Given the description of an element on the screen output the (x, y) to click on. 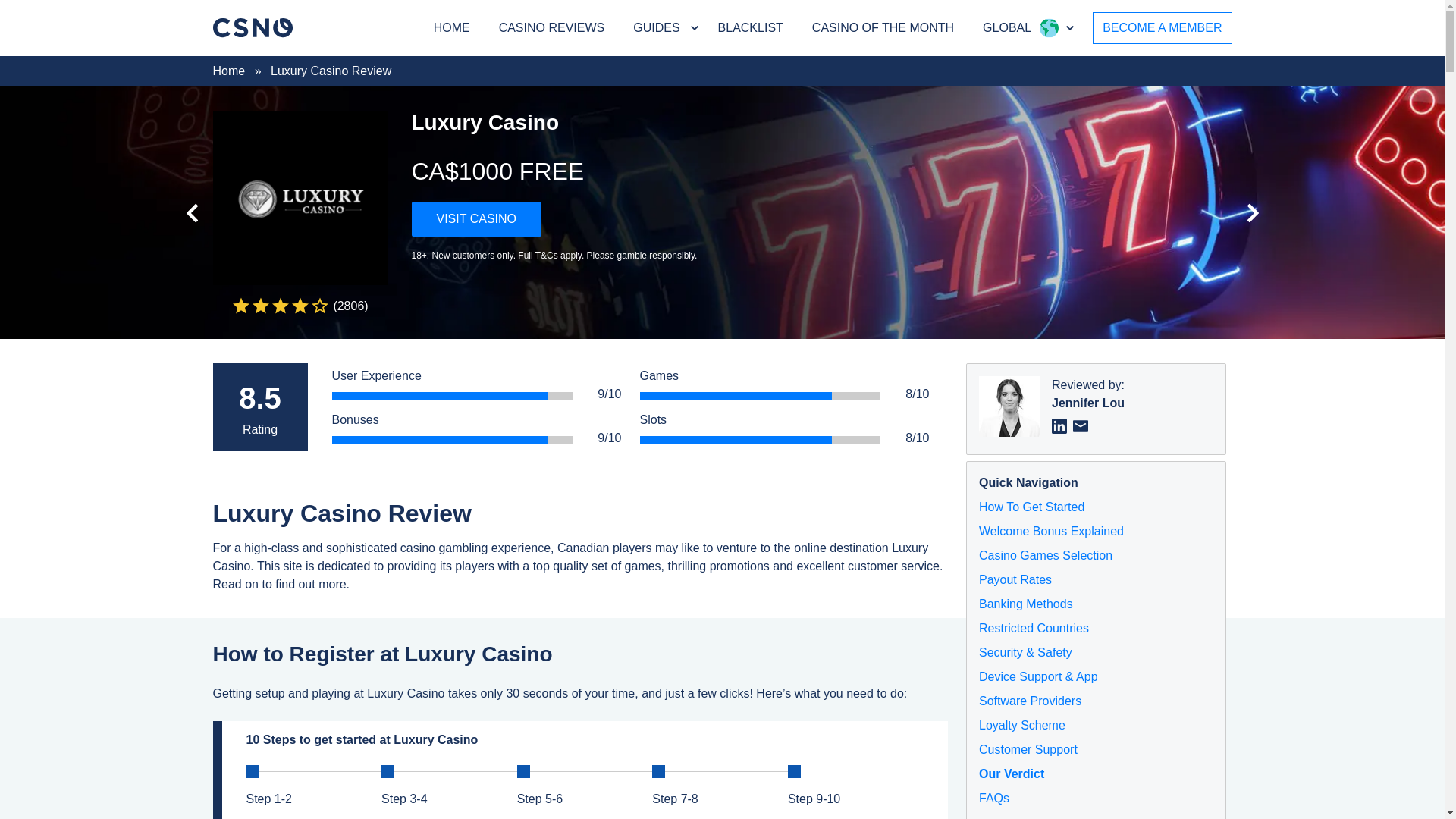
Home (228, 70)
GUIDES (656, 27)
CASINO REVIEWS (551, 28)
Luxury Casino Step 7 (658, 770)
Luxury Casino Step 5 (522, 770)
BECOME A MEMBER (1162, 28)
Luxury Casino Step 3 (387, 770)
CASINO OF THE MONTH (882, 28)
BLACKLIST (750, 28)
VISIT CASINO (475, 218)
